Given the description of an element on the screen output the (x, y) to click on. 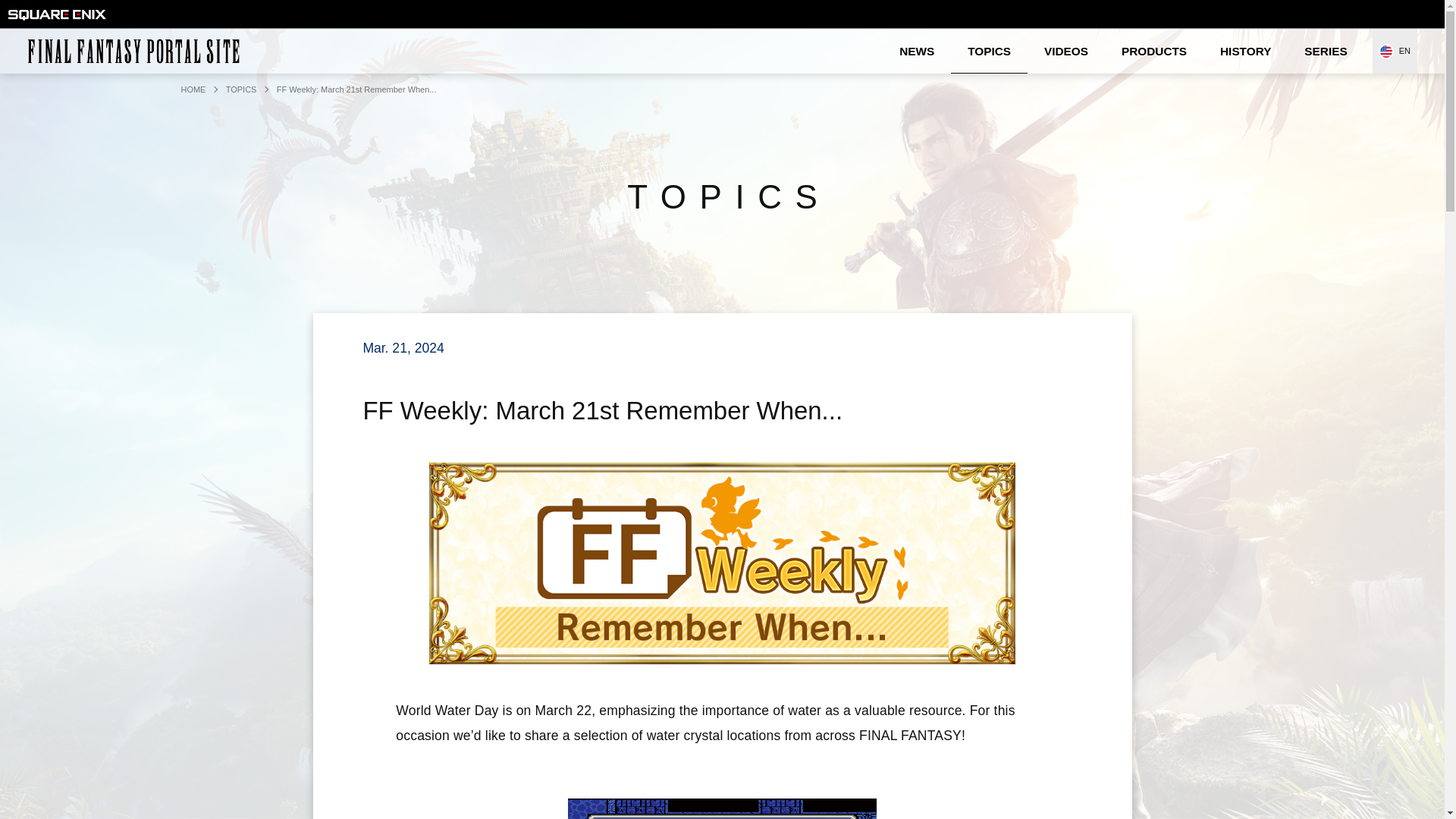
HISTORY (1245, 50)
FINAL FANTASY PORTAL SITE (137, 50)
HOME (192, 89)
TOPICS (241, 89)
SERIES (1324, 50)
VIDEOS (1066, 50)
PRODUCTS (1154, 50)
NEWS (916, 50)
TOPICS (988, 50)
